Given the description of an element on the screen output the (x, y) to click on. 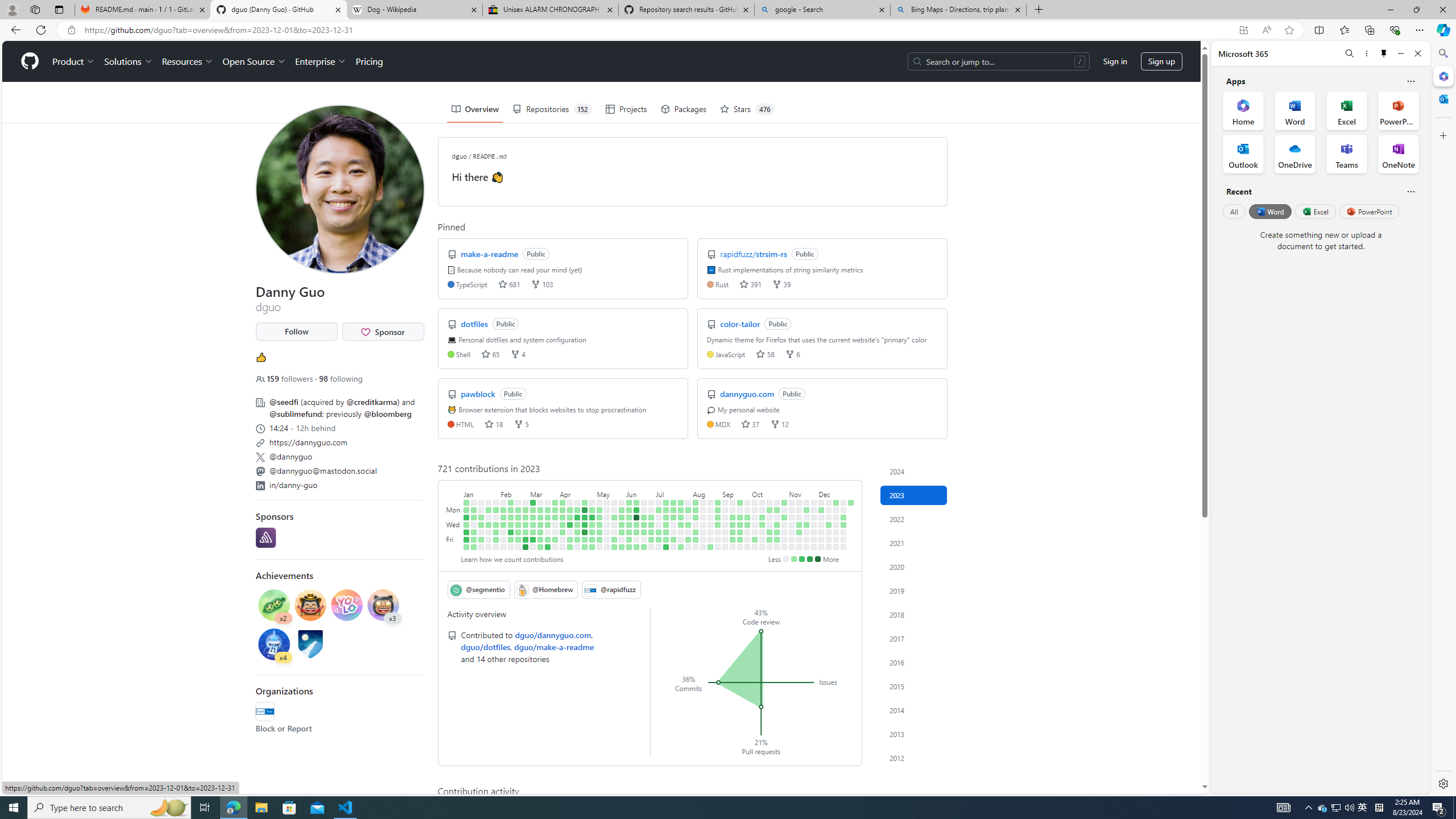
2 contributions on September 17th. (740, 502)
 @rapidfuzz (611, 588)
No contributions on September 11th. (732, 509)
No contributions on January 11th. (473, 524)
May (610, 492)
2014 (913, 709)
6 contributions on March 17th. (540, 539)
No contributions on January 8th. (473, 502)
2 contributions on March 13th. (540, 509)
No contributions on October 28th. (777, 546)
No contributions on November 14th. (799, 517)
No contributions on May 25th. (614, 531)
